Given the description of an element on the screen output the (x, y) to click on. 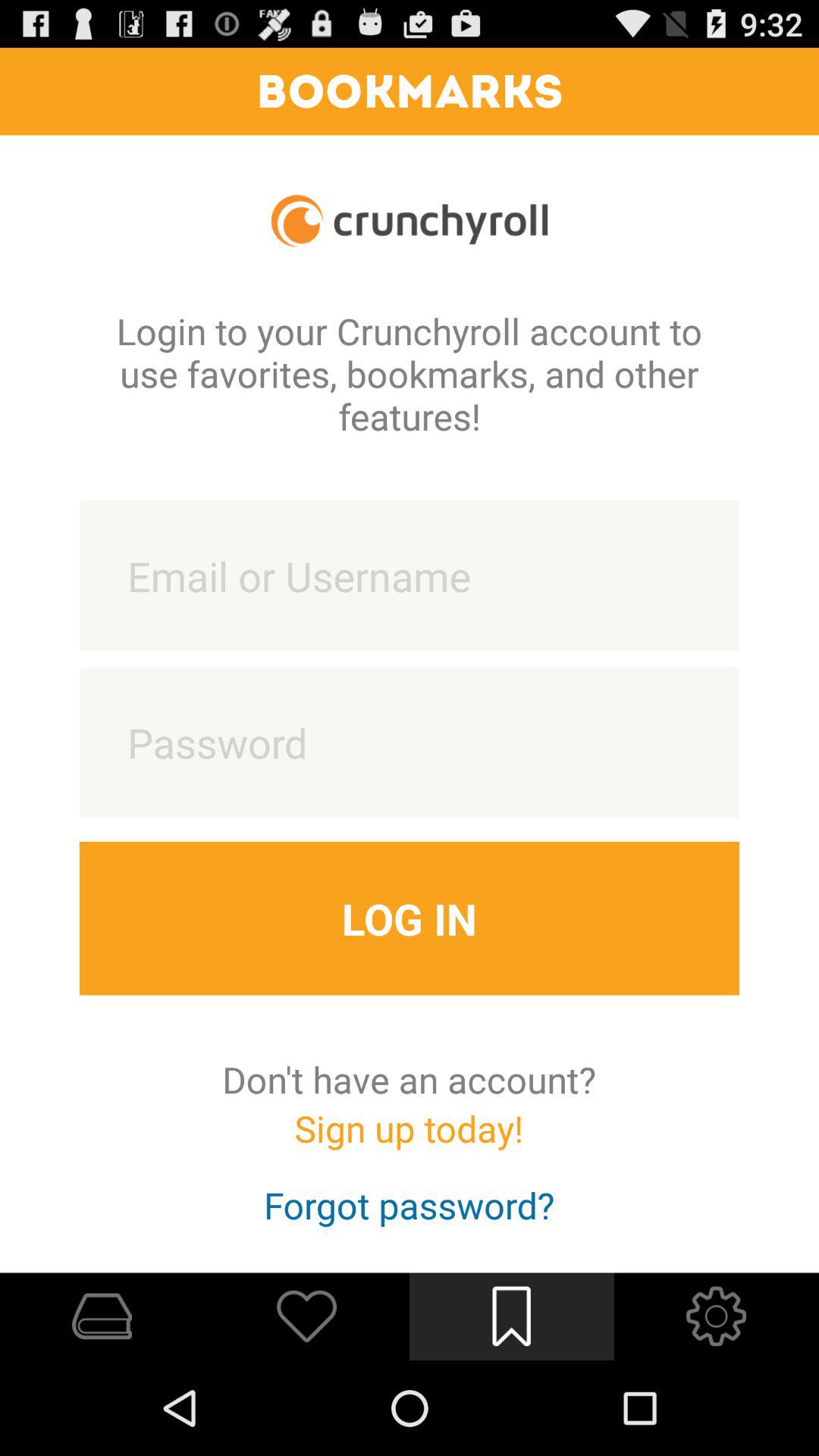
enter text (409, 575)
